Given the description of an element on the screen output the (x, y) to click on. 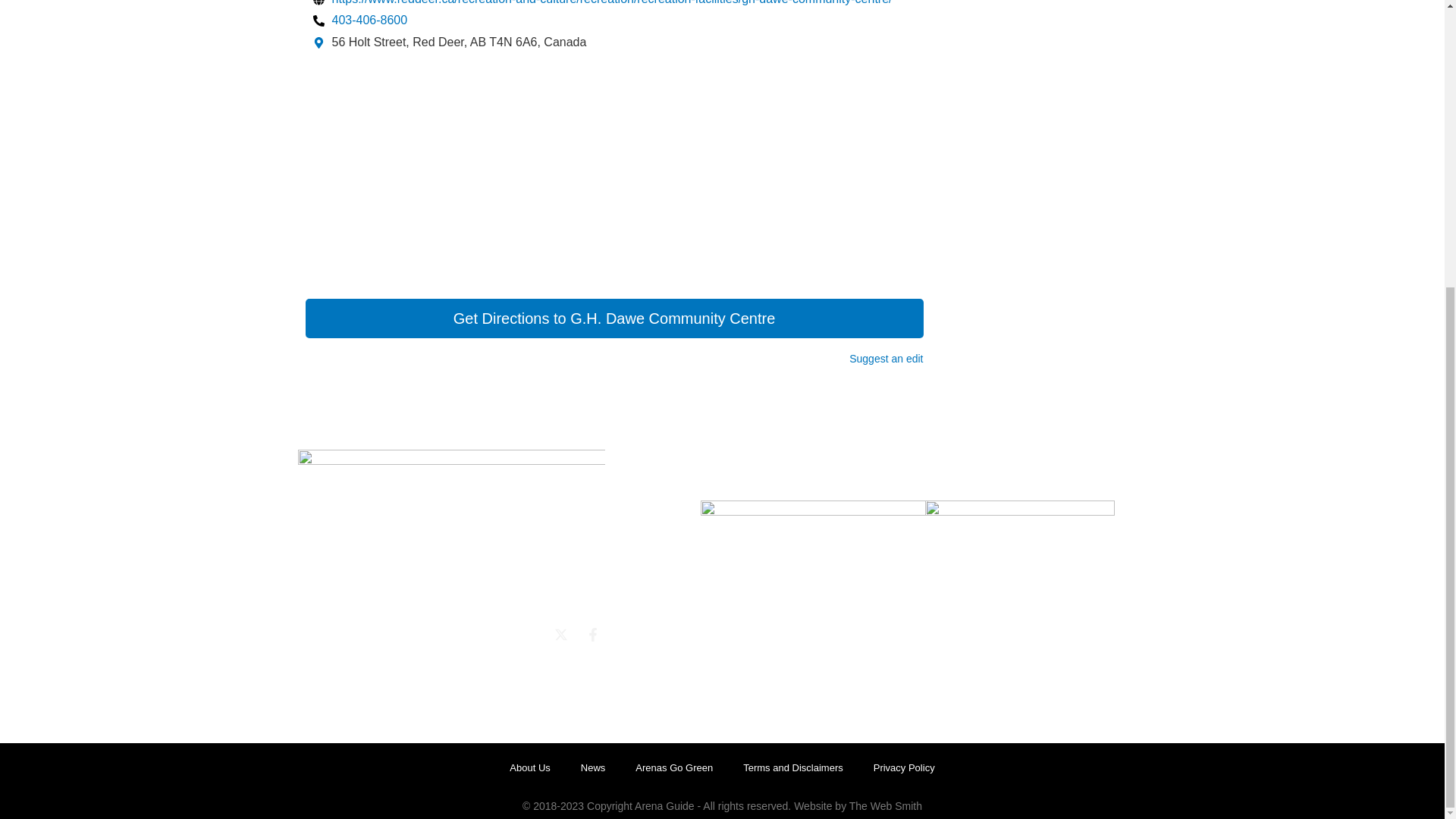
Arenas Go Green (674, 768)
Suggest an edit (885, 358)
Terms and Disclaimers (792, 768)
Get Directions to G.H. Dawe Community Centre (613, 318)
Privacy Policy (904, 768)
403-406-8600 (360, 20)
About Us (529, 768)
News (593, 768)
